Given the description of an element on the screen output the (x, y) to click on. 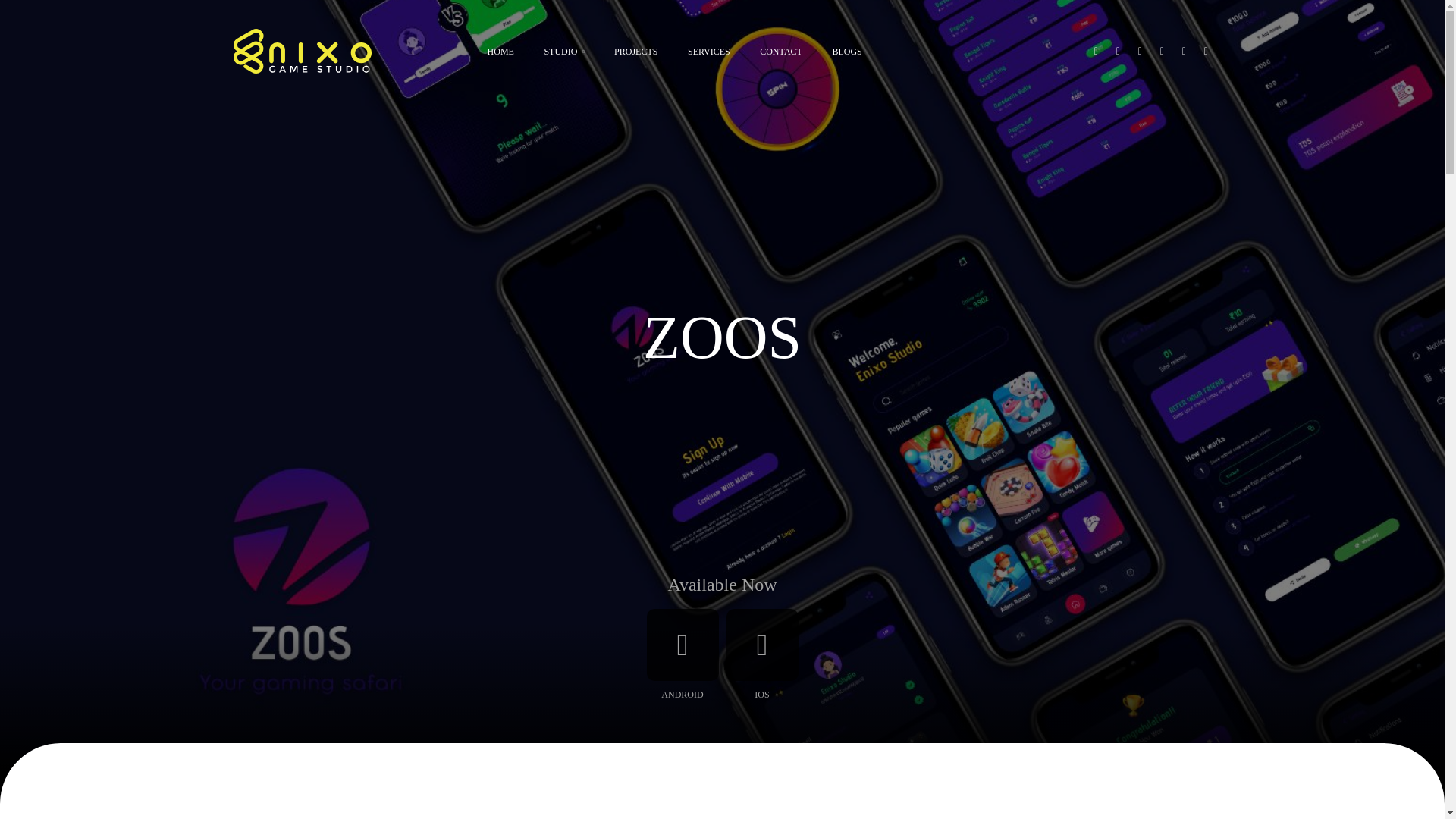
BLOGS (846, 51)
STUDIO (562, 51)
HOME (500, 51)
CONTACT (780, 51)
ANDROID (682, 656)
IOS (762, 656)
SERVICES (709, 51)
PROJECTS (635, 51)
